Given the description of an element on the screen output the (x, y) to click on. 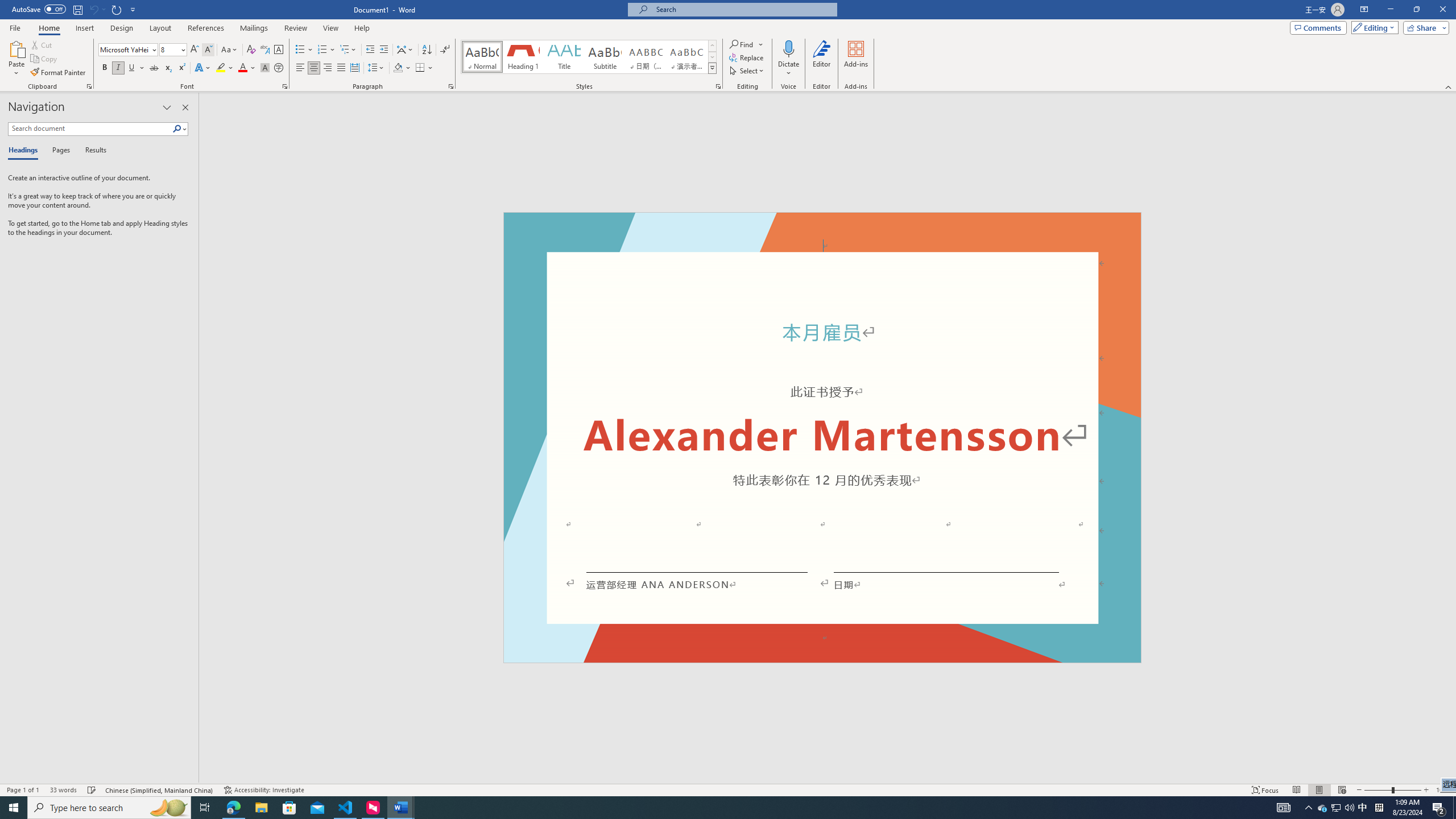
Borders (424, 67)
Class: MsoCommandBar (728, 789)
Footer -Section 1- (822, 657)
Borders (419, 67)
Collapse the Ribbon (1448, 86)
Clear Formatting (250, 49)
Task Pane Options (167, 107)
Paragraph... (450, 85)
Comments (1318, 27)
Zoom Out (1377, 790)
Styles (711, 67)
Styles... (717, 85)
